Given the description of an element on the screen output the (x, y) to click on. 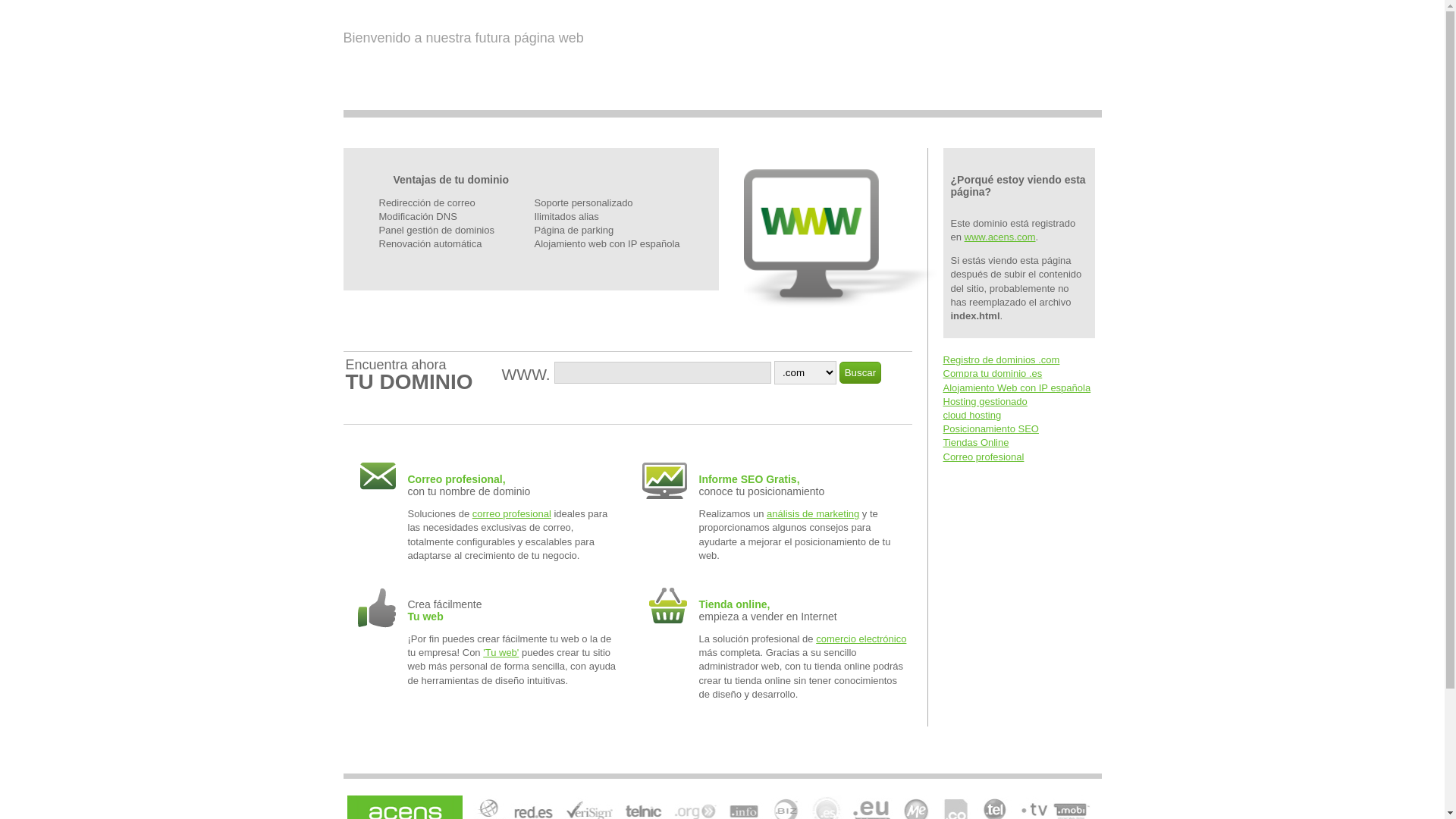
Informe SEO Gratis, Element type: text (749, 479)
Correo profesional, Element type: text (513, 485)
Hosting gestionado Element type: text (985, 401)
cloud hosting Element type: text (972, 414)
correo profesional Element type: text (511, 513)
'Tu web' Element type: text (500, 652)
Correo profesional Element type: text (983, 456)
Tienda online, Element type: text (734, 604)
Posicionamiento SEO Element type: text (990, 428)
Registro de dominios .com Element type: text (1001, 359)
Buscar Element type: text (860, 372)
www.acens.com Element type: text (999, 236)
Tu web Element type: text (425, 616)
Tiendas Online Element type: text (976, 442)
Compra tu dominio .es Element type: text (992, 373)
